Given the description of an element on the screen output the (x, y) to click on. 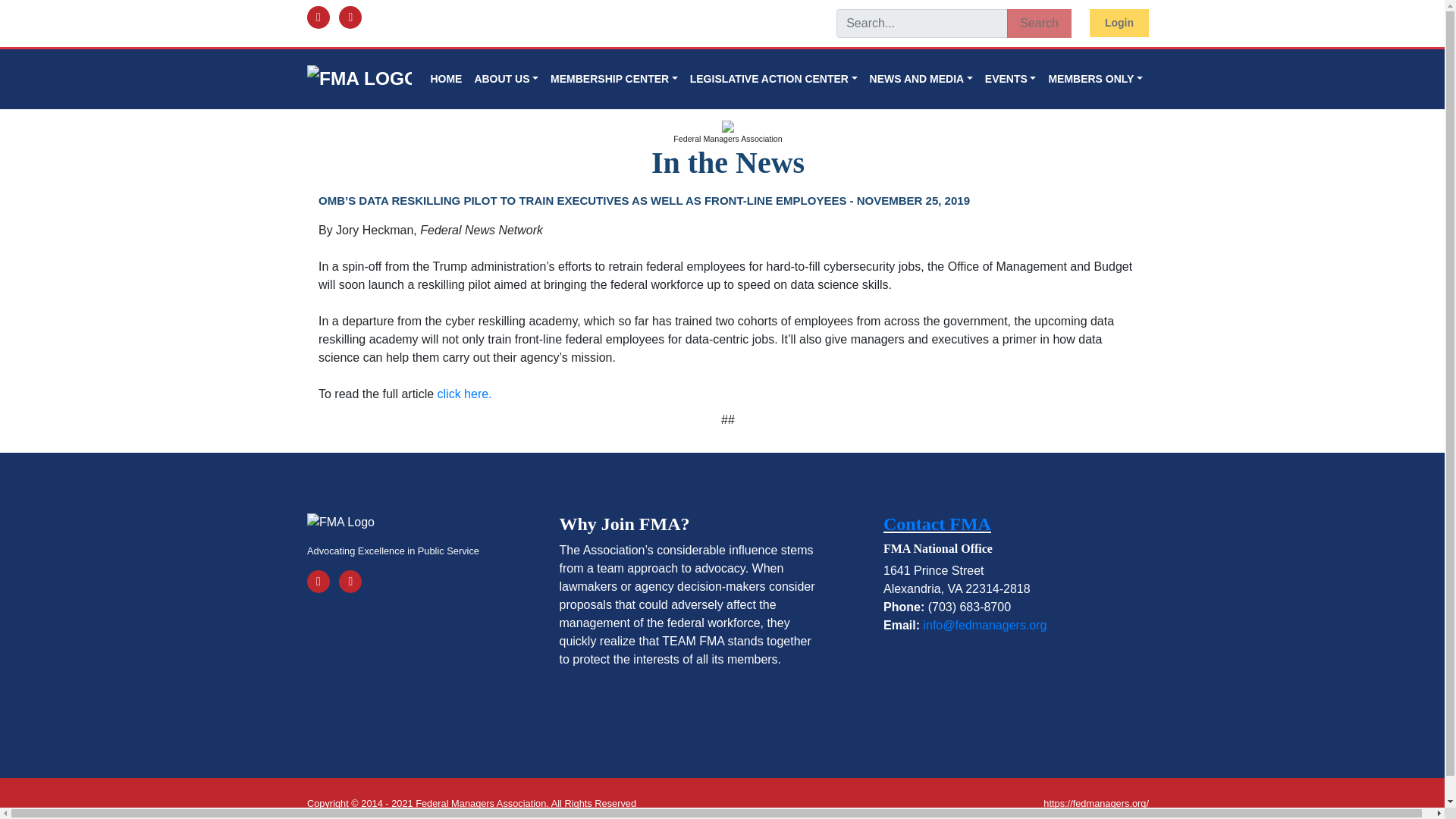
ABOUT US (505, 79)
Search (1039, 23)
Login (1118, 22)
HOME (445, 79)
LEGISLATIVE ACTION CENTER (773, 79)
MEMBERSHIP CENTER (614, 79)
